Given the description of an element on the screen output the (x, y) to click on. 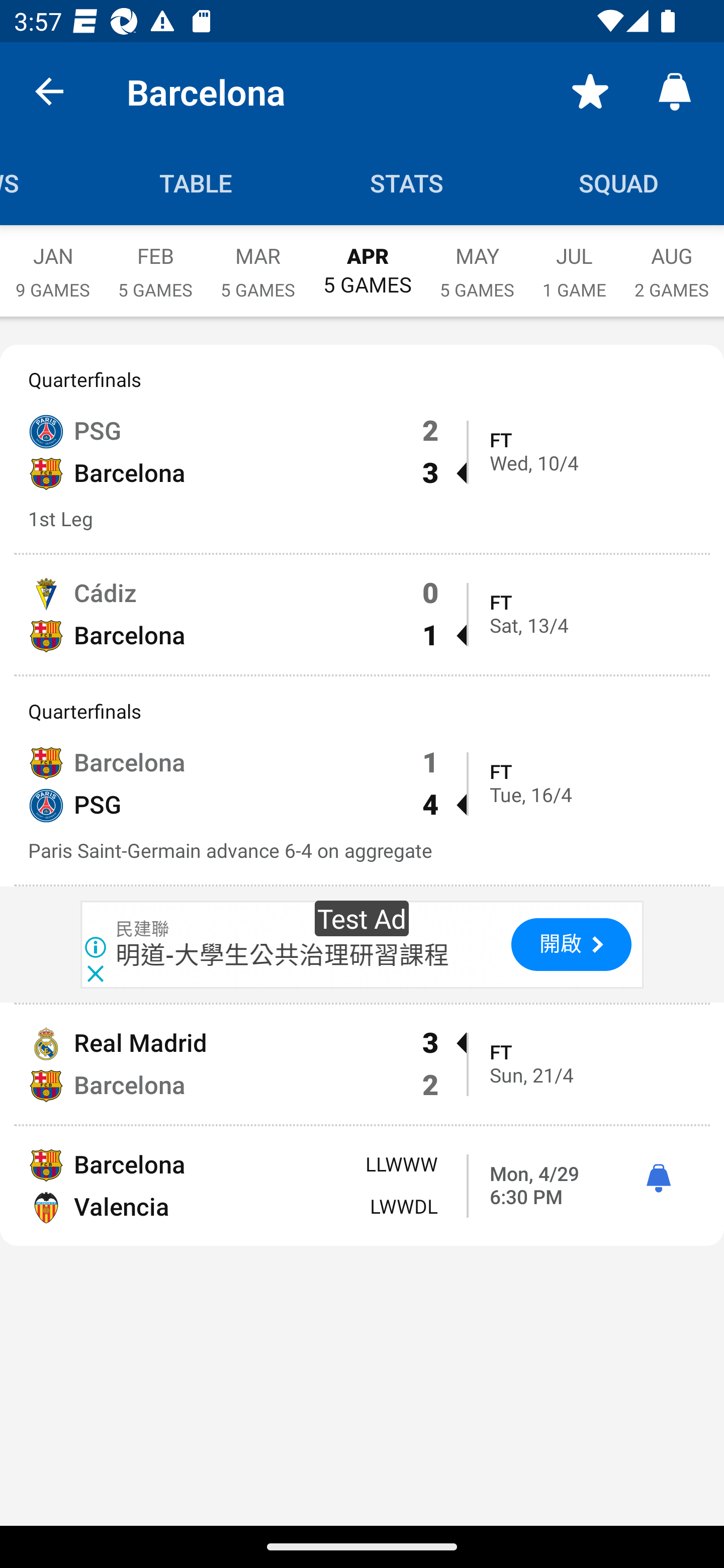
back.button (49, 90)
Favorite toggle (590, 90)
Alerts (674, 90)
Table TABLE (195, 183)
Stats STATS (406, 183)
Squad SQUAD (618, 183)
JAN 9 GAMES (52, 262)
FEB 5 GAMES (155, 262)
MAR 5 GAMES (257, 262)
APR 5 GAMES (367, 261)
MAY 5 GAMES (476, 262)
JUL 1 GAME (574, 262)
AUG 2 GAMES (671, 262)
Cádiz 0 Barcelona 1  FT Sat, 13/4 (362, 614)
民建聯 (142, 929)
開啟 (570, 944)
明道-大學生公共治理研習課程 (282, 954)
Real Madrid 3  Barcelona 2 FT Sun, 21/4 (362, 1064)
Barcelona LLWWW Valencia LWWDL Mon, 4/29 6:30 PM ì (362, 1185)
ì (658, 1178)
